Given the description of an element on the screen output the (x, y) to click on. 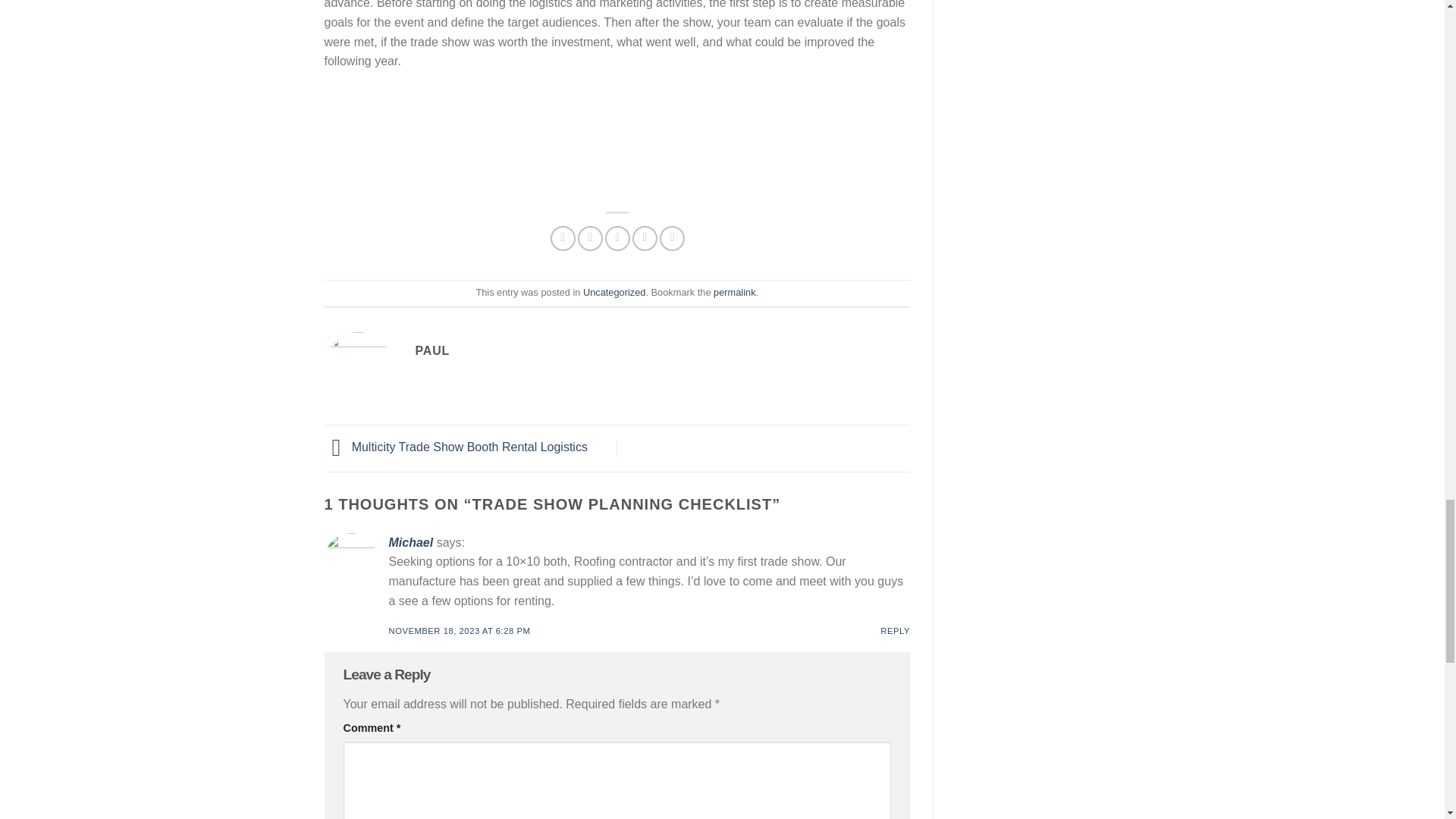
Email to a Friend (617, 238)
Share on LinkedIn (671, 238)
Share on Twitter (590, 238)
Share on Facebook (562, 238)
Pin on Pinterest (644, 238)
Permalink to Trade Show Planning Checklist (734, 292)
